Given the description of an element on the screen output the (x, y) to click on. 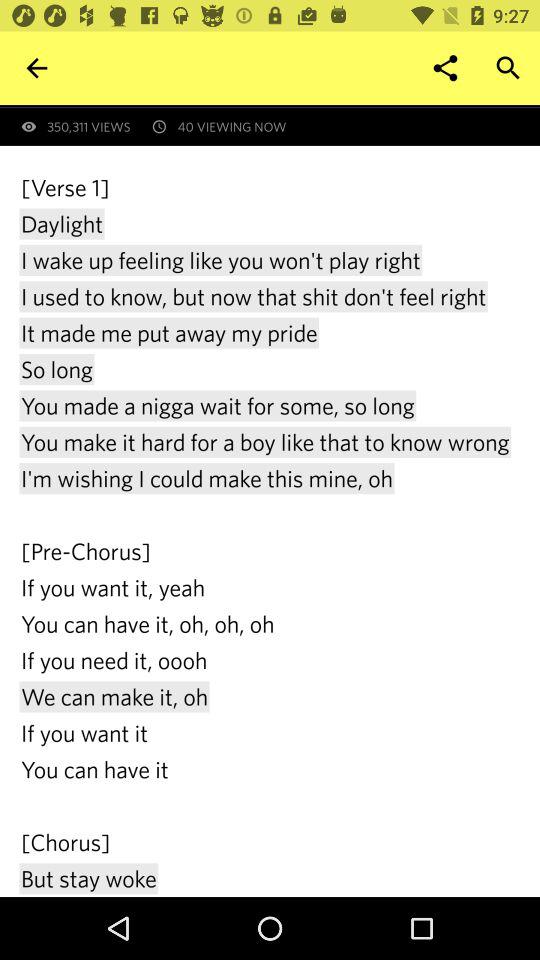
press item above first revealed at (508, 67)
